Given the description of an element on the screen output the (x, y) to click on. 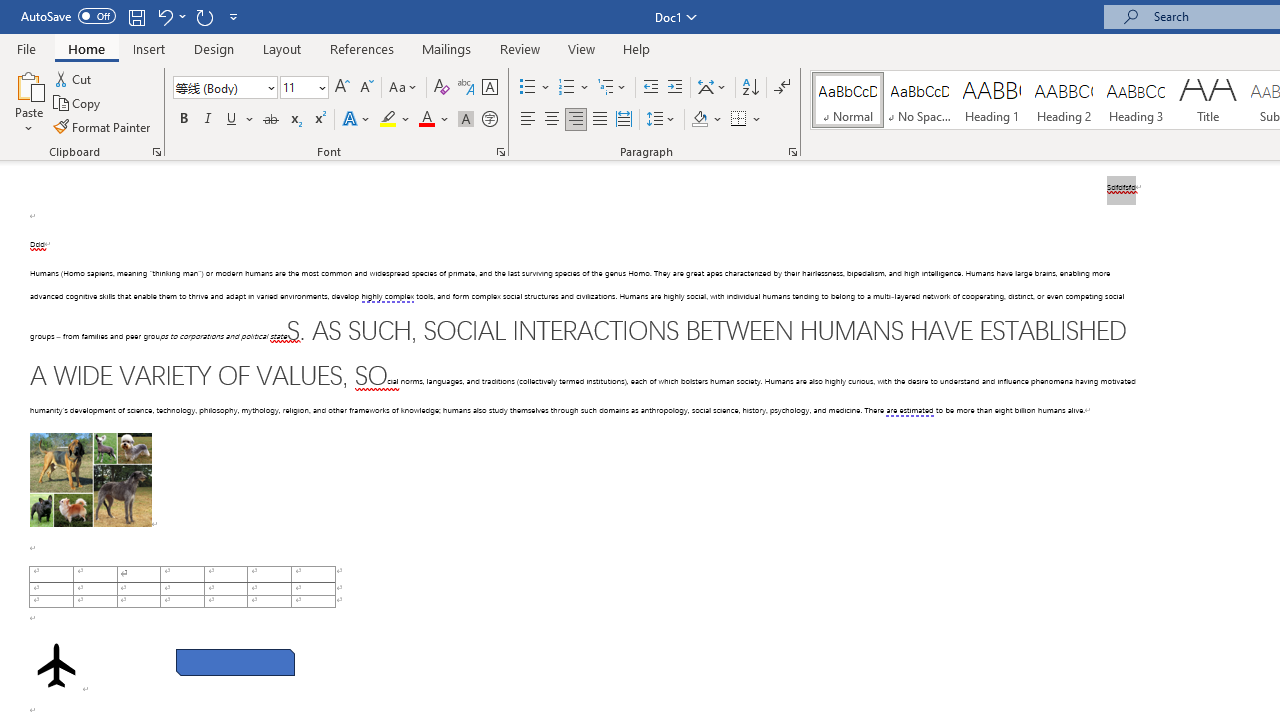
Align Left (527, 119)
Undo Paragraph Alignment (164, 15)
Copy (78, 103)
Paragraph... (792, 151)
Character Shading (465, 119)
Strikethrough (270, 119)
Line and Paragraph Spacing (661, 119)
Repeat Paragraph Alignment (204, 15)
Align Right (575, 119)
